Given the description of an element on the screen output the (x, y) to click on. 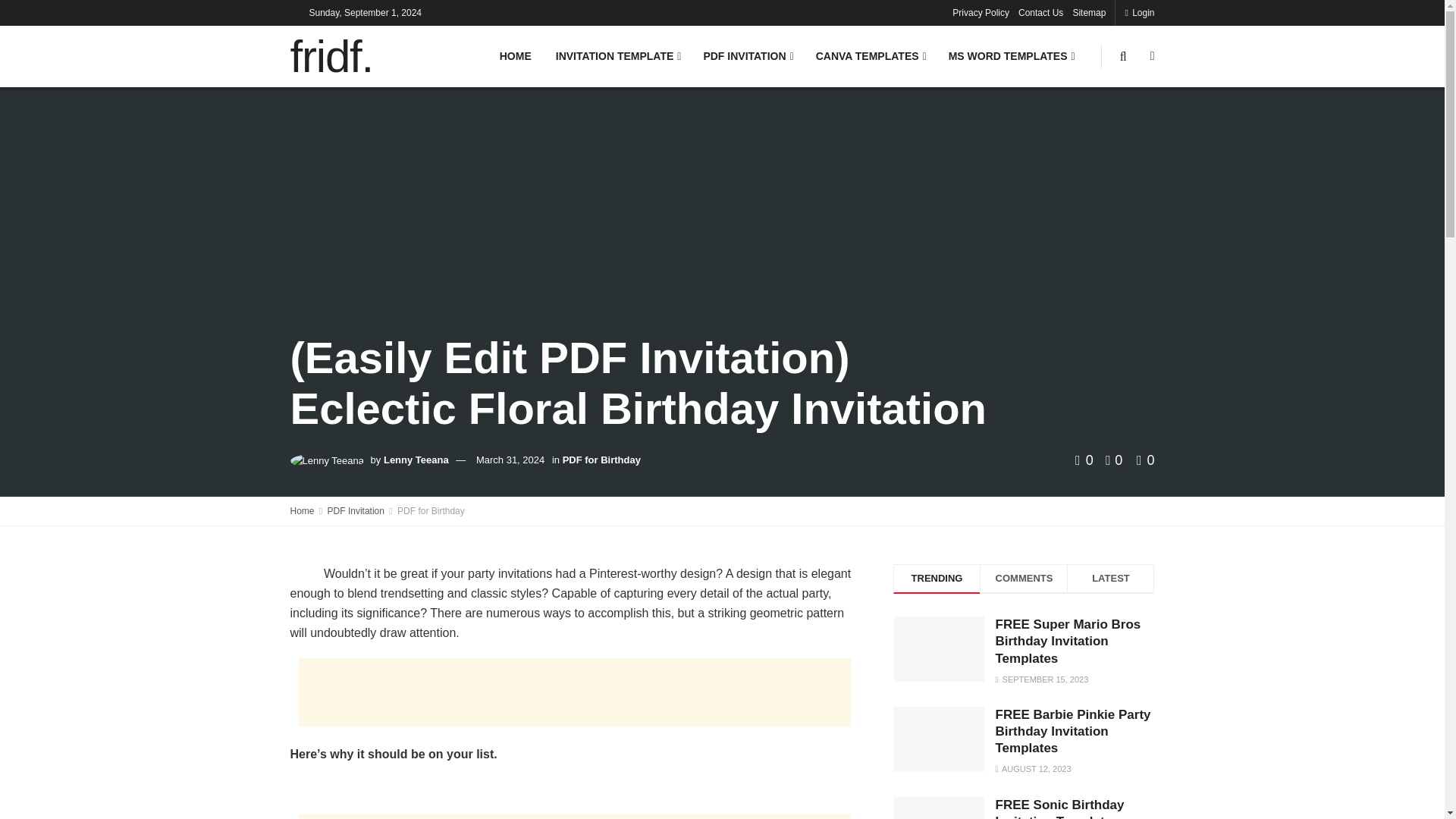
MS WORD TEMPLATES (1010, 55)
fridf. (330, 55)
Privacy Policy (980, 12)
INVITATION TEMPLATE (617, 55)
Sitemap (1088, 12)
HOME (515, 55)
Contact Us (1039, 12)
Login (1139, 12)
CANVA TEMPLATES (869, 55)
PDF INVITATION (746, 55)
